Given the description of an element on the screen output the (x, y) to click on. 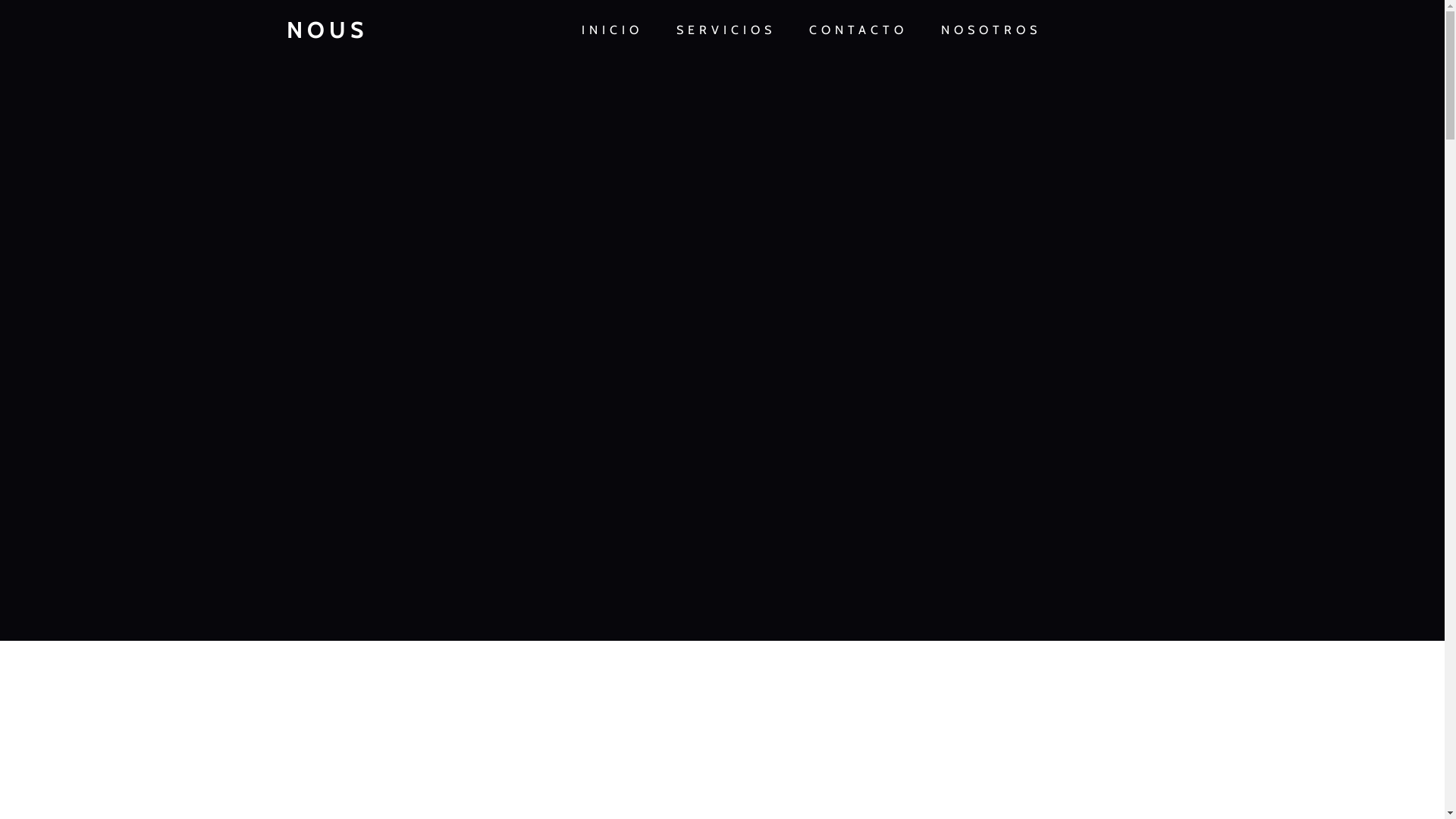
CONTACTO Element type: text (857, 29)
INICIO Element type: text (611, 29)
NOUS Element type: text (367, 29)
SERVICIOS Element type: text (725, 29)
NOSOTROS Element type: text (990, 29)
